Given the description of an element on the screen output the (x, y) to click on. 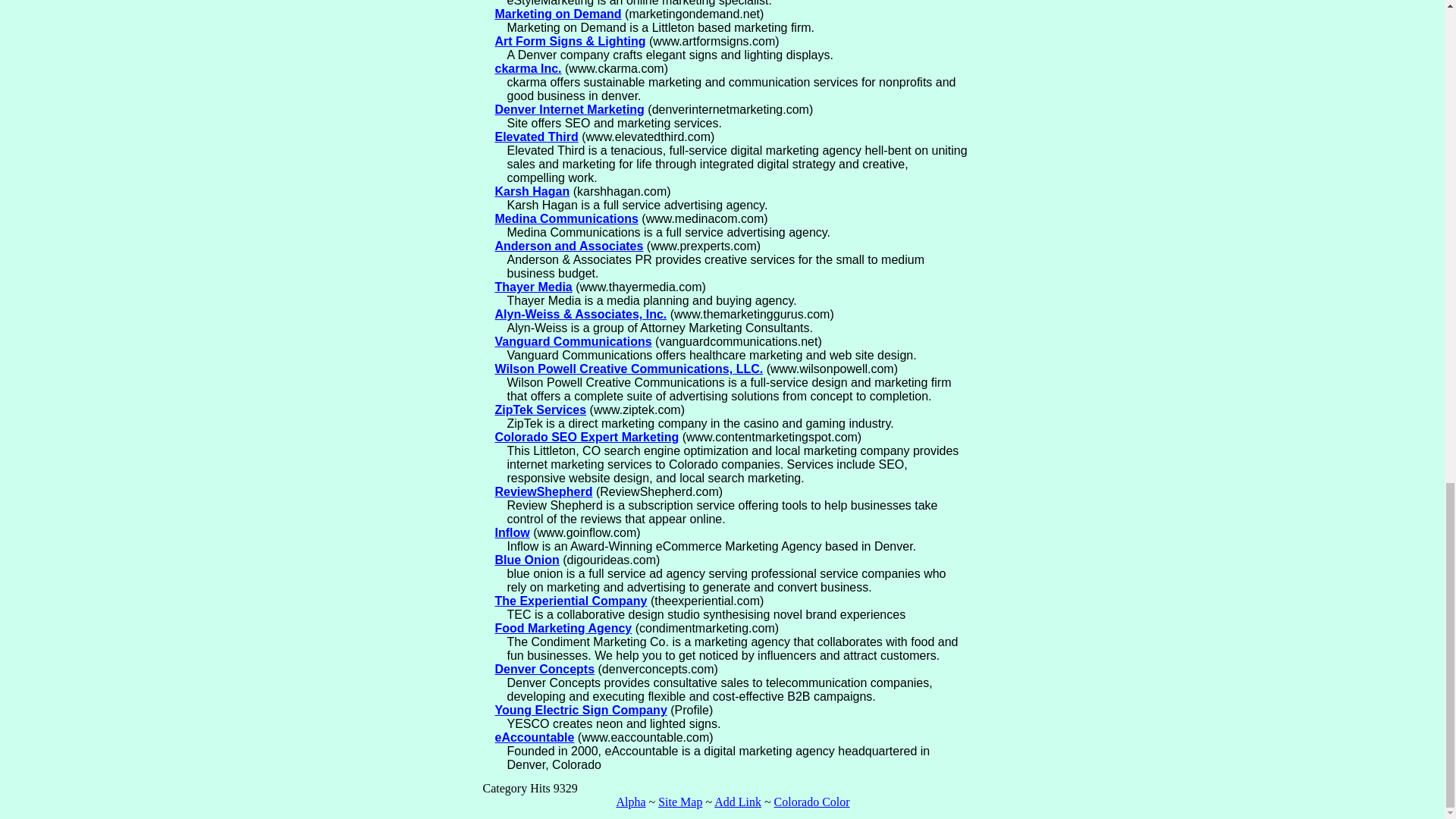
Marketing on Demand (558, 13)
Add Link (737, 801)
Denver Internet Marketing (569, 109)
Site Map (679, 801)
Alphabetical Listing of Sites (630, 801)
ckarma Inc. (527, 68)
